Given the description of an element on the screen output the (x, y) to click on. 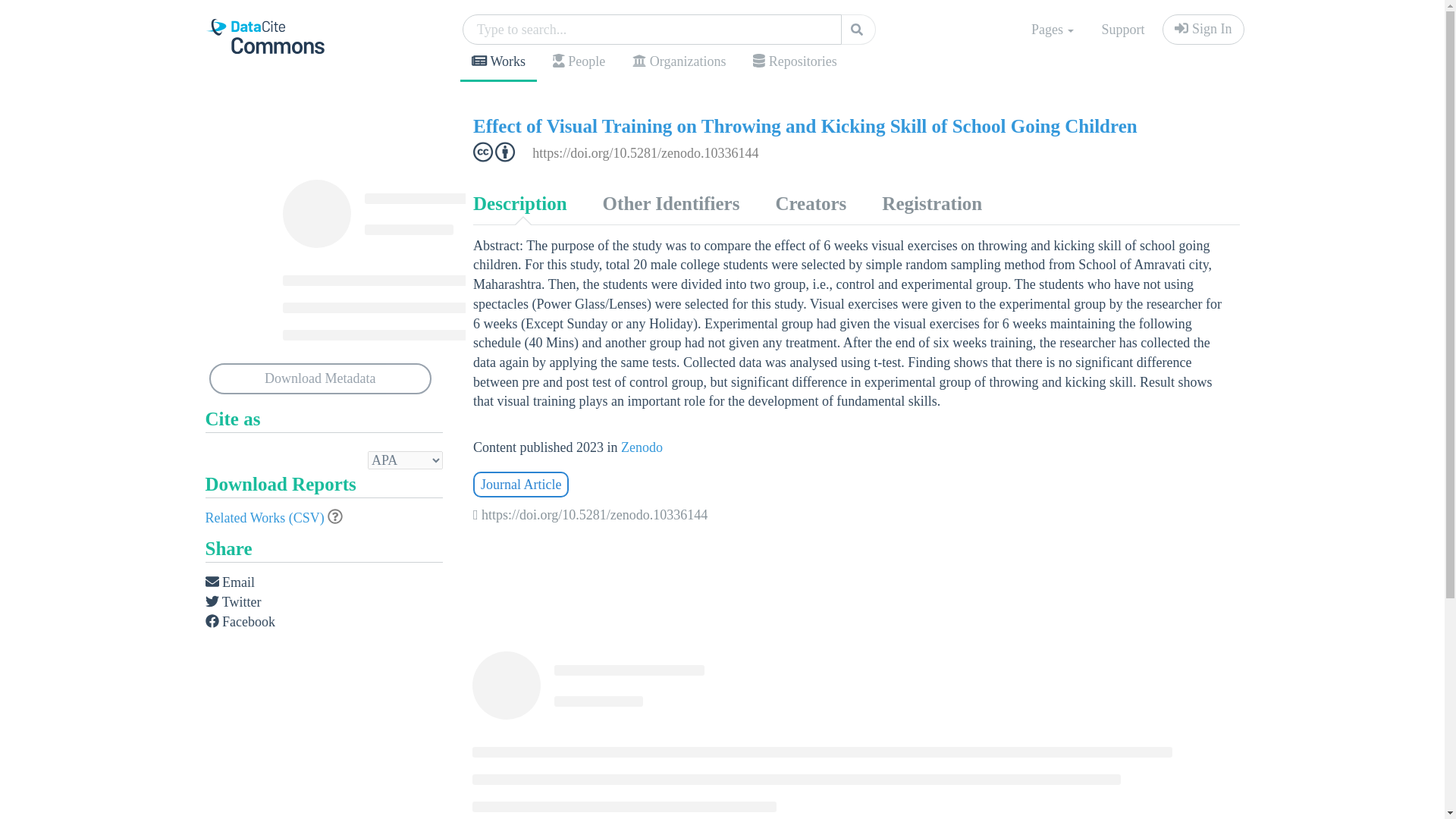
Description (519, 203)
Sign In (1202, 29)
Creators (809, 203)
Other Identifiers (671, 203)
Support (1122, 30)
Facebook (240, 622)
Download Metadata (320, 378)
Registration (931, 203)
Zenodo (641, 447)
Download Metadata (320, 378)
Repositories (794, 62)
